Given the description of an element on the screen output the (x, y) to click on. 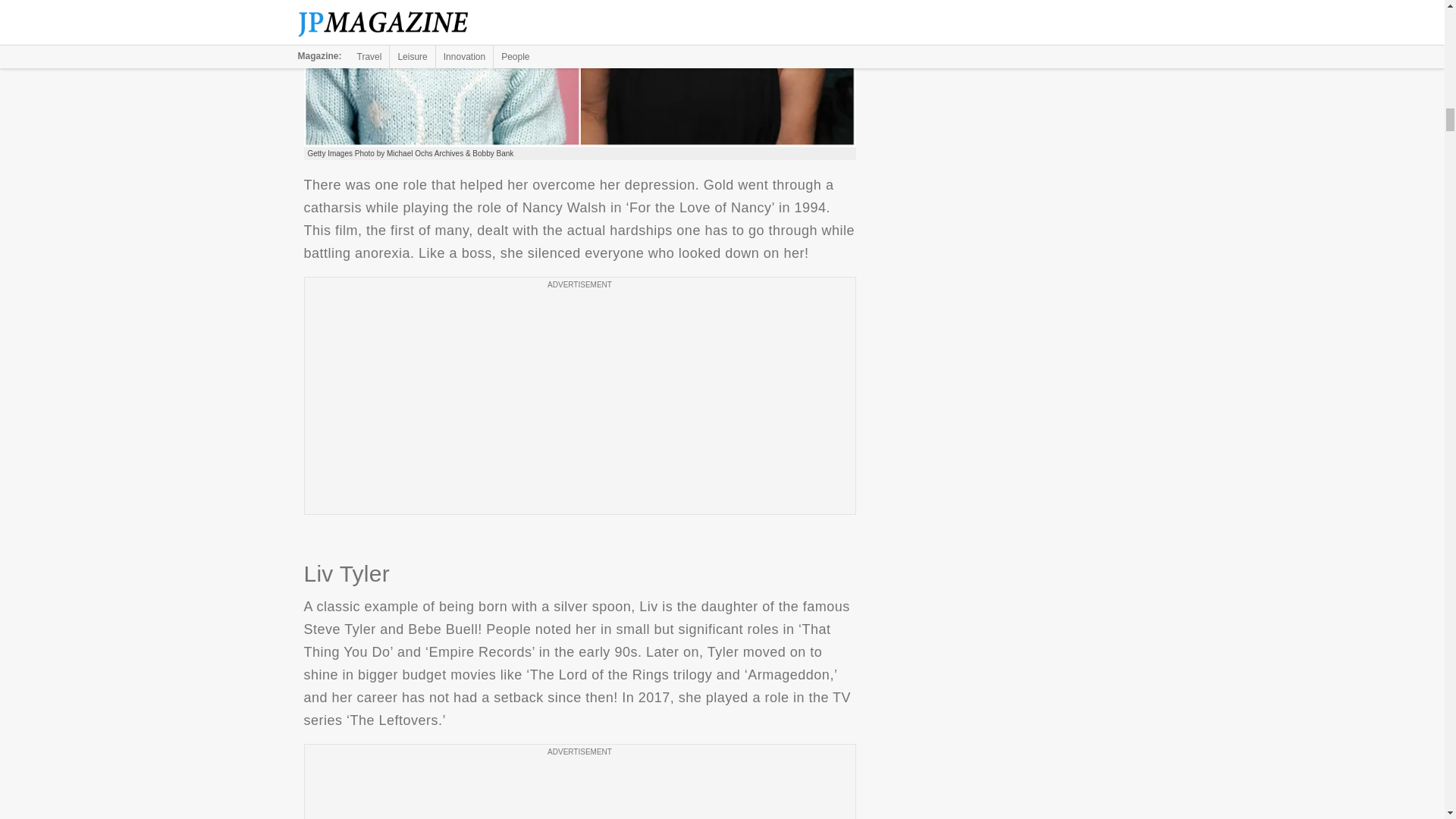
Tracey Gold (579, 73)
